Given the description of an element on the screen output the (x, y) to click on. 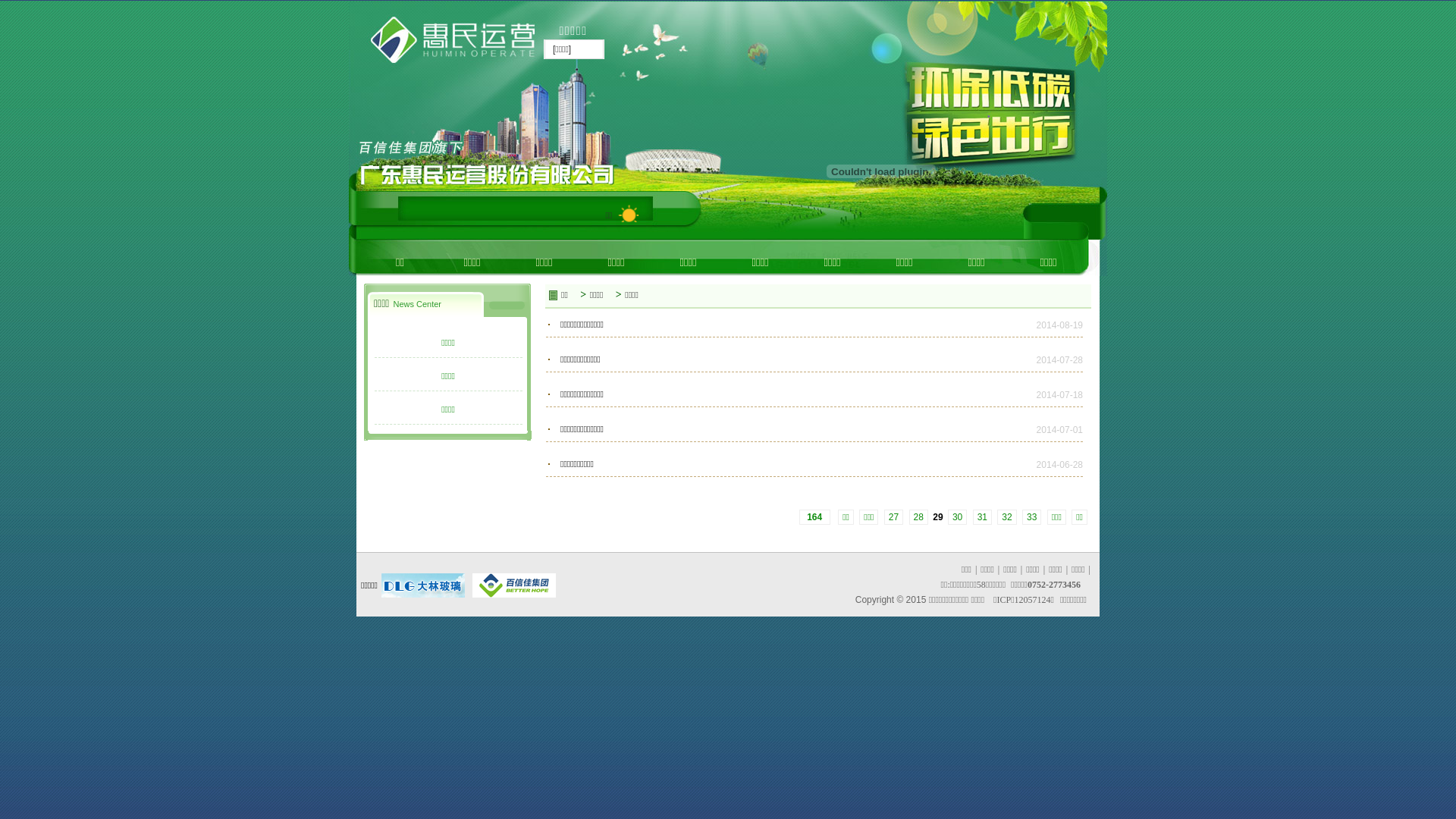
27 Element type: text (893, 516)
28 Element type: text (918, 516)
 164 Element type: text (814, 516)
33 Element type: text (1031, 516)
31 Element type: text (981, 516)
32 Element type: text (1006, 516)
30 Element type: text (956, 516)
